Given the description of an element on the screen output the (x, y) to click on. 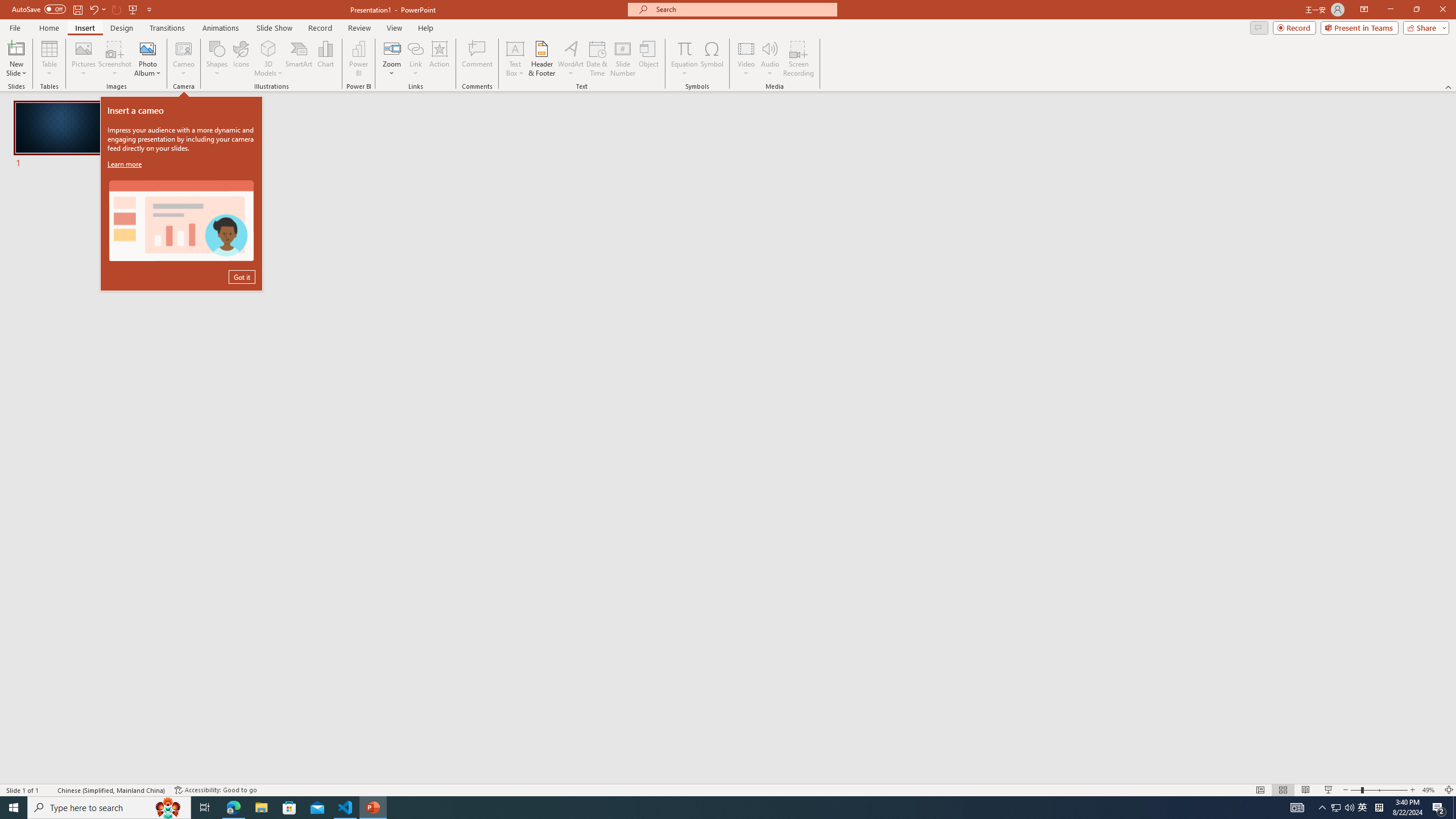
Link (415, 48)
Object... (649, 58)
Insert a cameo (181, 220)
